Given the description of an element on the screen output the (x, y) to click on. 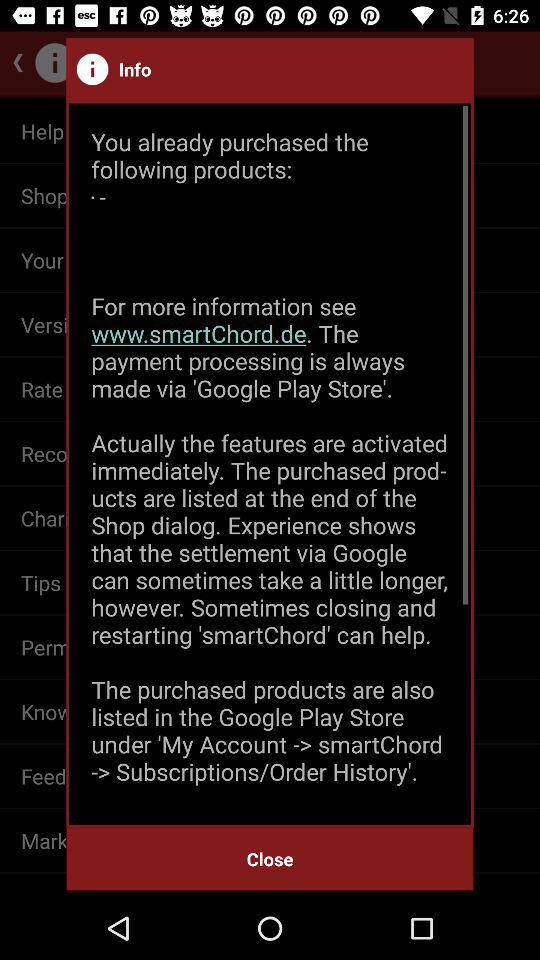
choose the item below the you already purchased icon (269, 858)
